Given the description of an element on the screen output the (x, y) to click on. 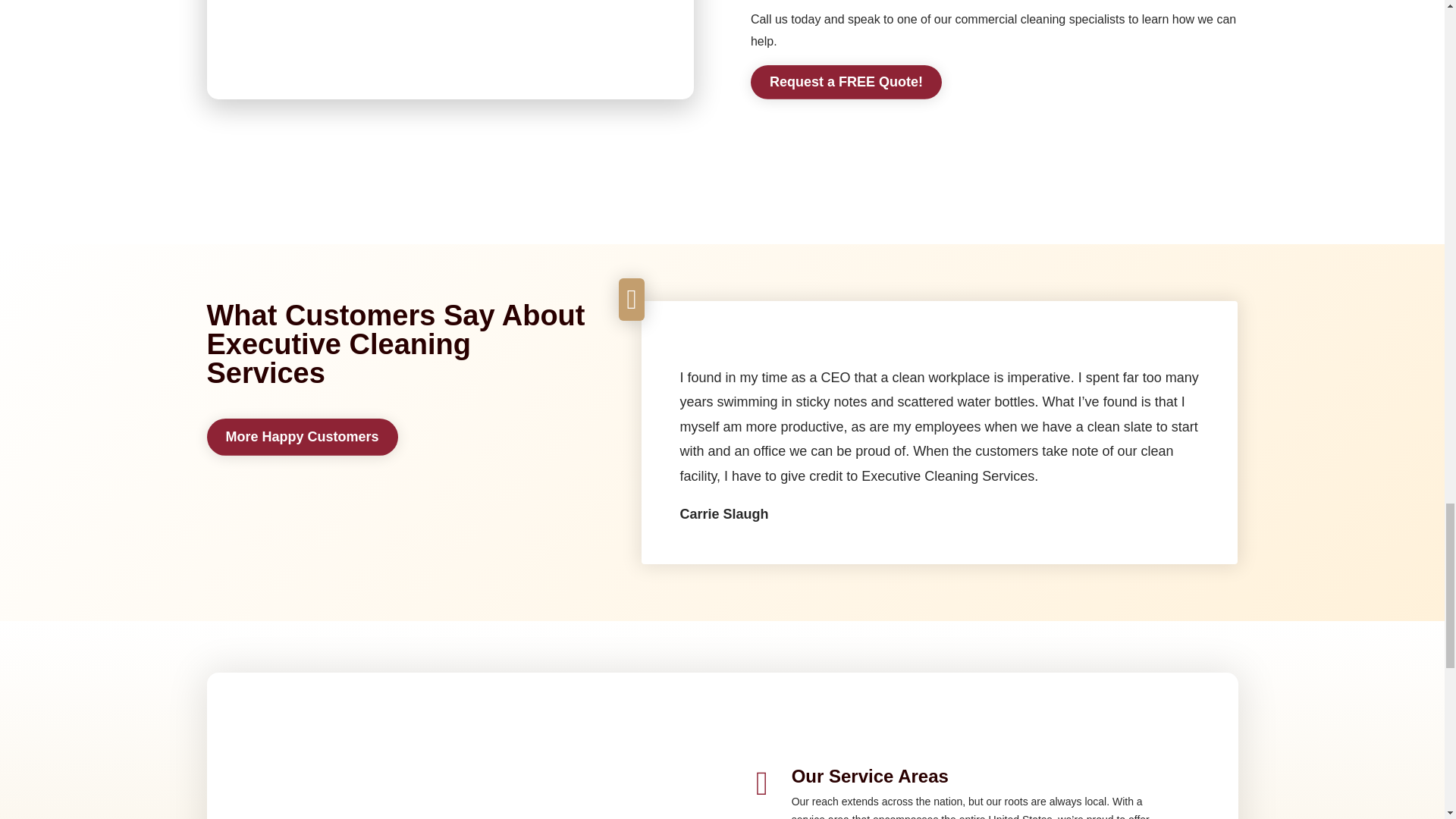
stars-20x117-1 (723, 346)
